Given the description of an element on the screen output the (x, y) to click on. 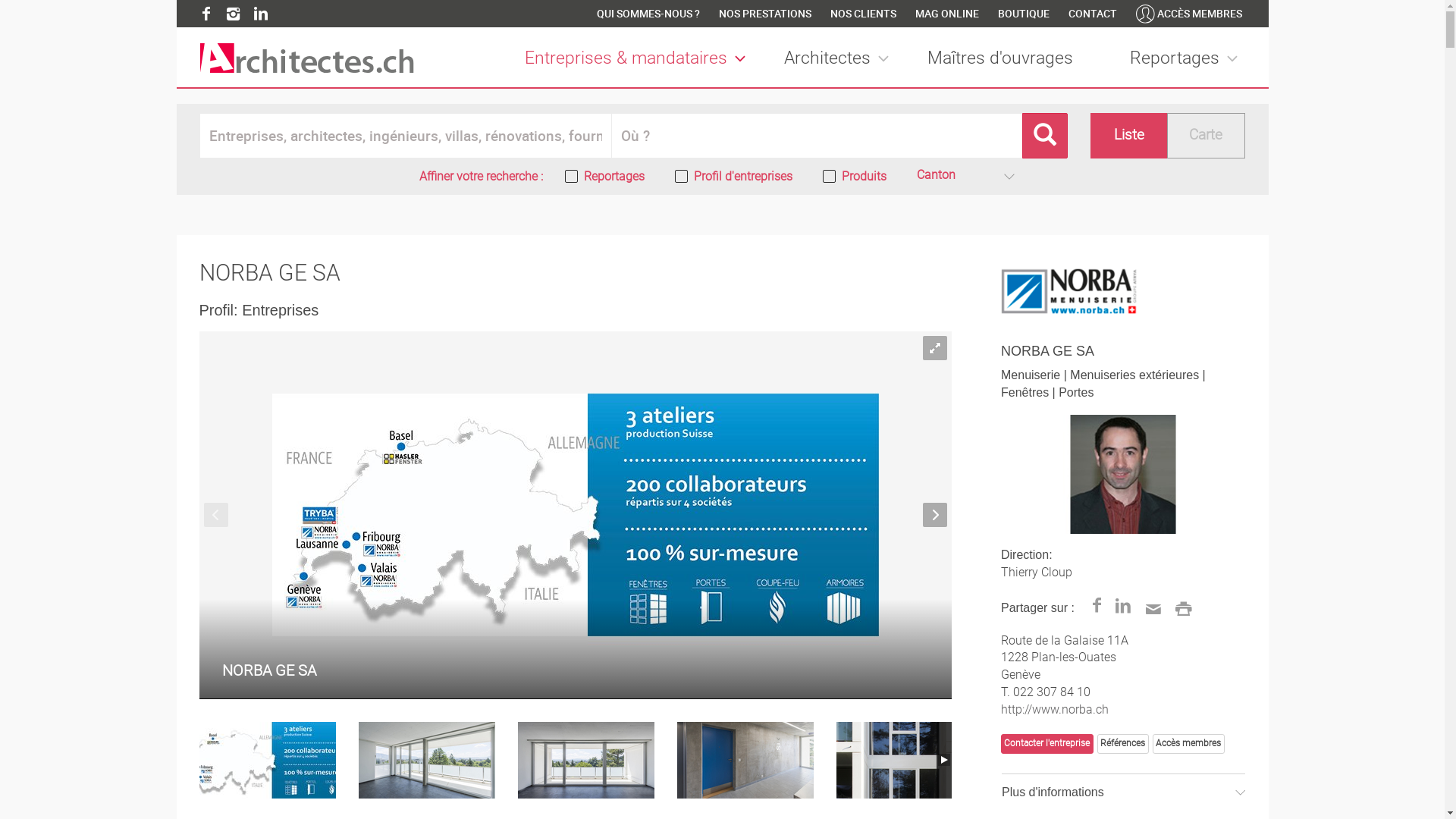
Accueil Element type: hover (305, 57)
Imprimer Element type: hover (1181, 606)
Contacter l'entreprise Element type: text (1047, 743)
Liste Element type: text (1129, 135)
MAG ONLINE Element type: text (946, 13)
Partager par email Element type: hover (1150, 606)
Instagram Element type: hover (233, 13)
BOUTIQUE Element type: text (1023, 13)
Facebook Element type: hover (1096, 606)
NOS CLIENTS Element type: text (862, 13)
Architectes Element type: text (840, 58)
QUI SOMMES-NOUS ? Element type: text (647, 13)
http://www.norba.ch Element type: text (1054, 709)
Facebook Element type: hover (205, 13)
Linkdin Element type: hover (1123, 606)
Plus d'informations Element type: text (1123, 792)
Linkedin Element type: hover (260, 13)
Reportages Element type: text (1187, 58)
Carte Element type: text (1206, 135)
CONTACT Element type: text (1091, 13)
Entreprises & mandataires Element type: text (638, 58)
NOS PRESTATIONS Element type: text (764, 13)
